Given the description of an element on the screen output the (x, y) to click on. 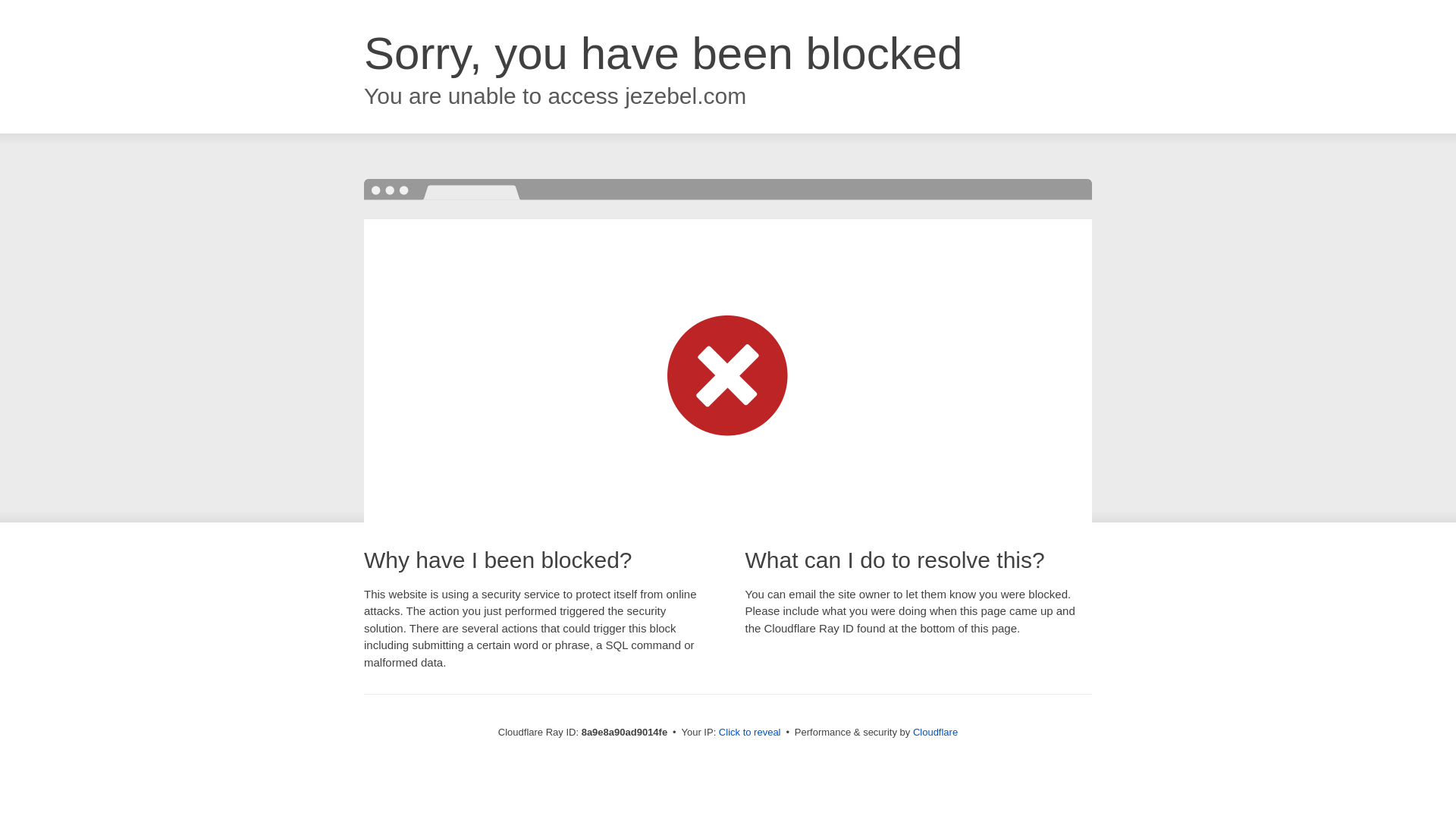
Cloudflare (935, 731)
Click to reveal (749, 732)
